Given the description of an element on the screen output the (x, y) to click on. 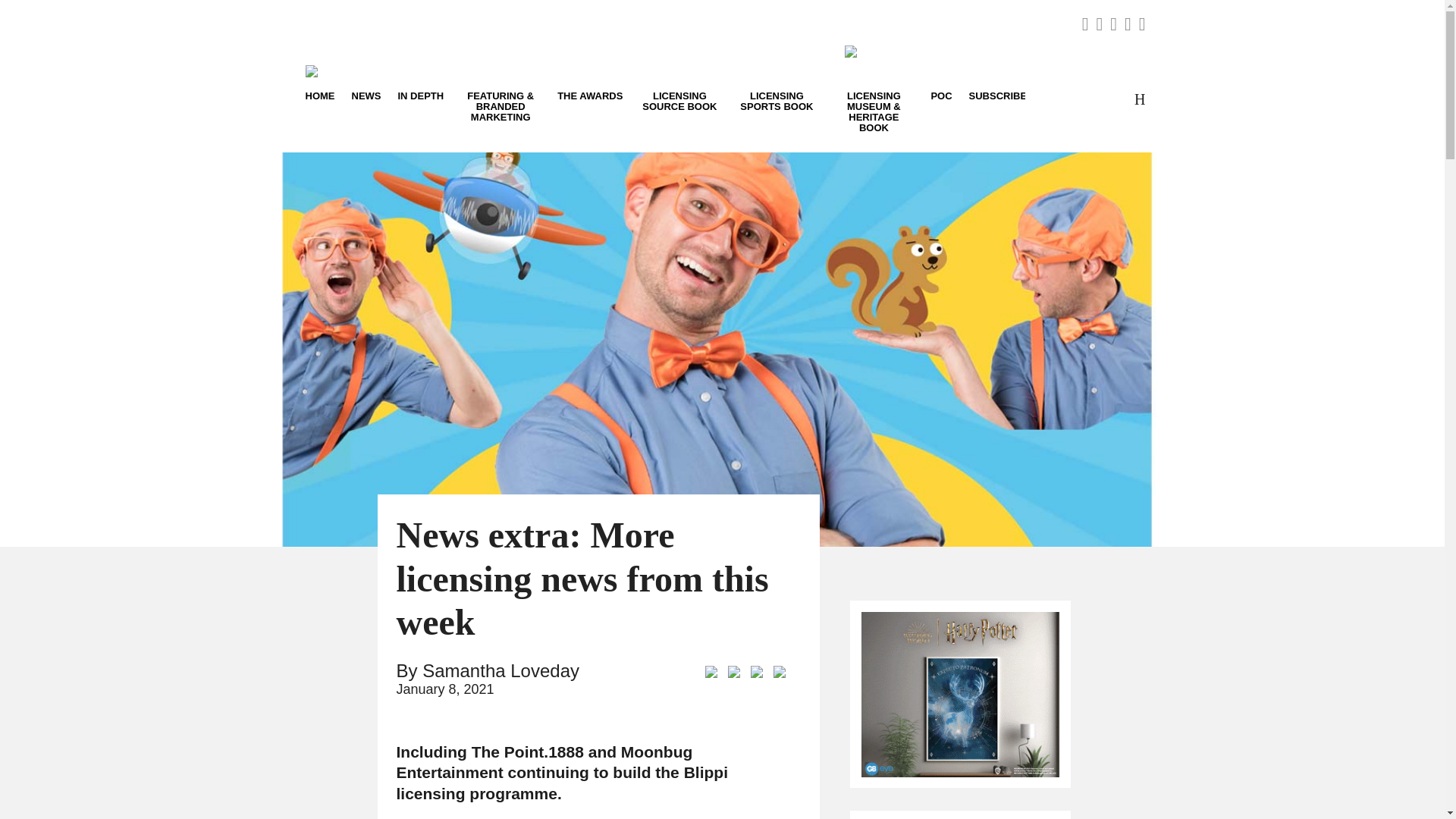
IN DEPTH (421, 94)
HOME (323, 94)
LICENSING SOURCE BOOK (679, 100)
NEWS (365, 94)
THE AWARDS (589, 94)
